Given the description of an element on the screen output the (x, y) to click on. 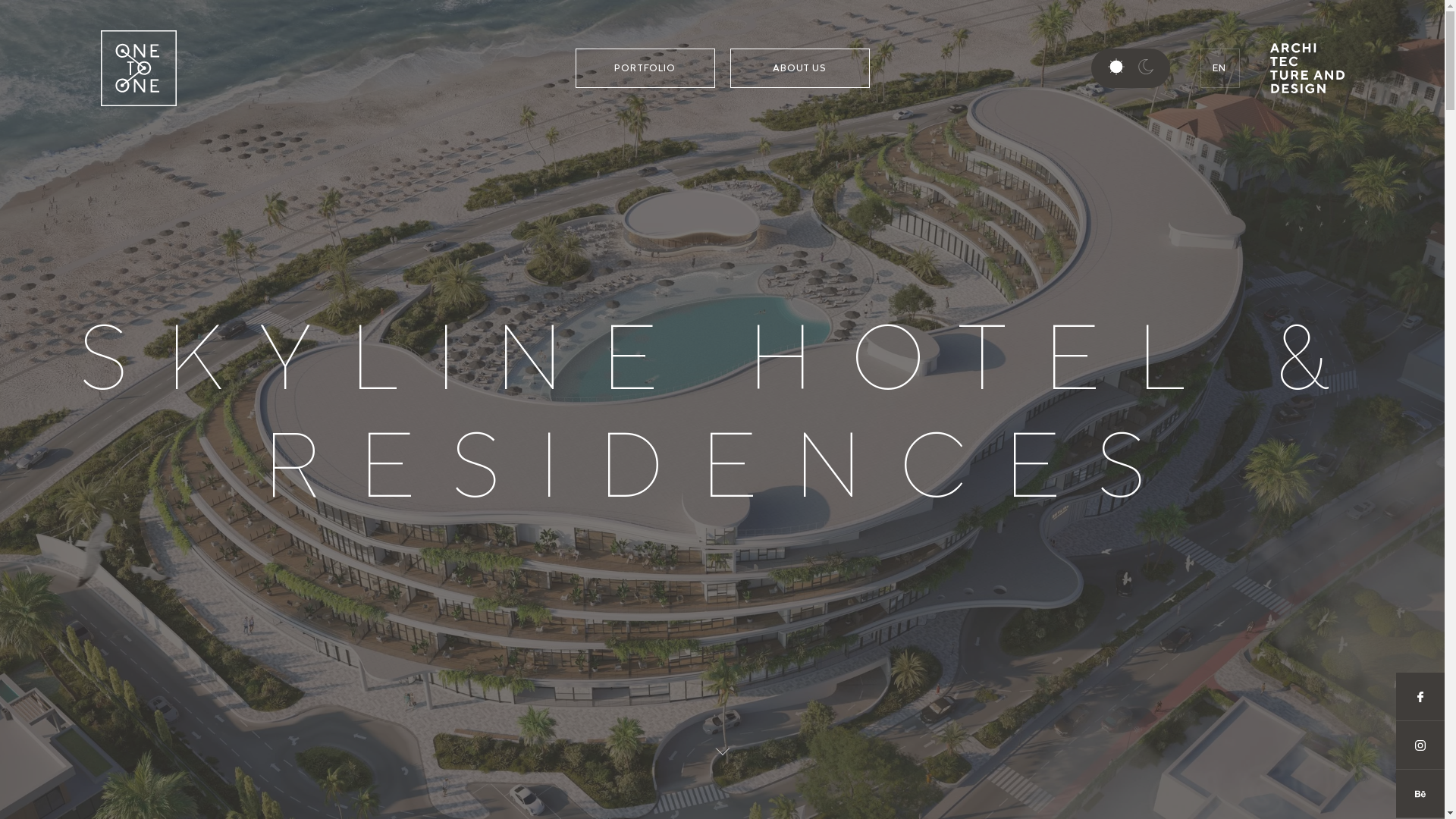
ABOUT US Element type: text (800, 68)
PORTFOLIO Element type: text (645, 68)
